Given the description of an element on the screen output the (x, y) to click on. 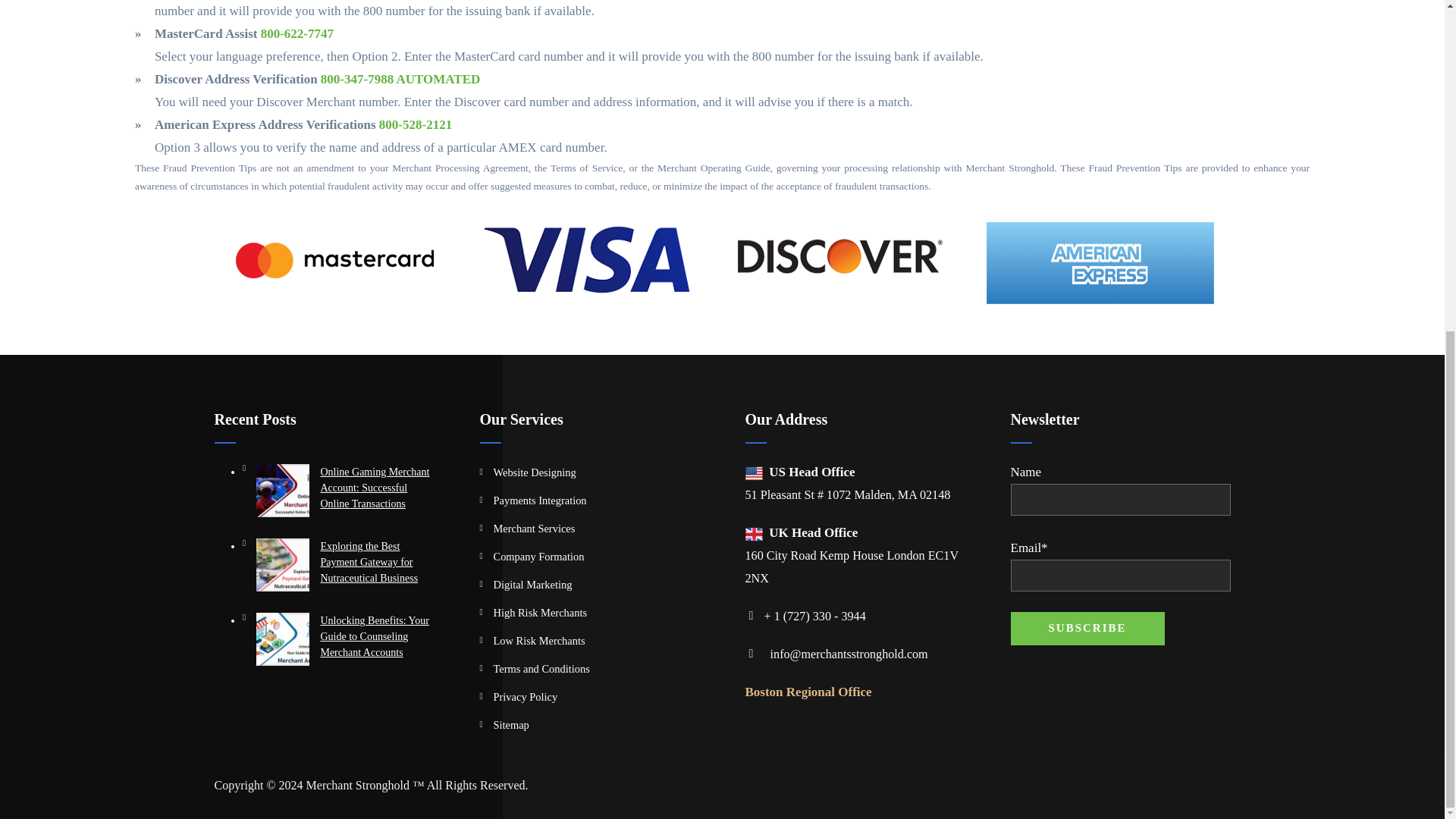
discover (840, 259)
Subscribe (1086, 628)
mastercard (334, 259)
visa (587, 259)
